Given the description of an element on the screen output the (x, y) to click on. 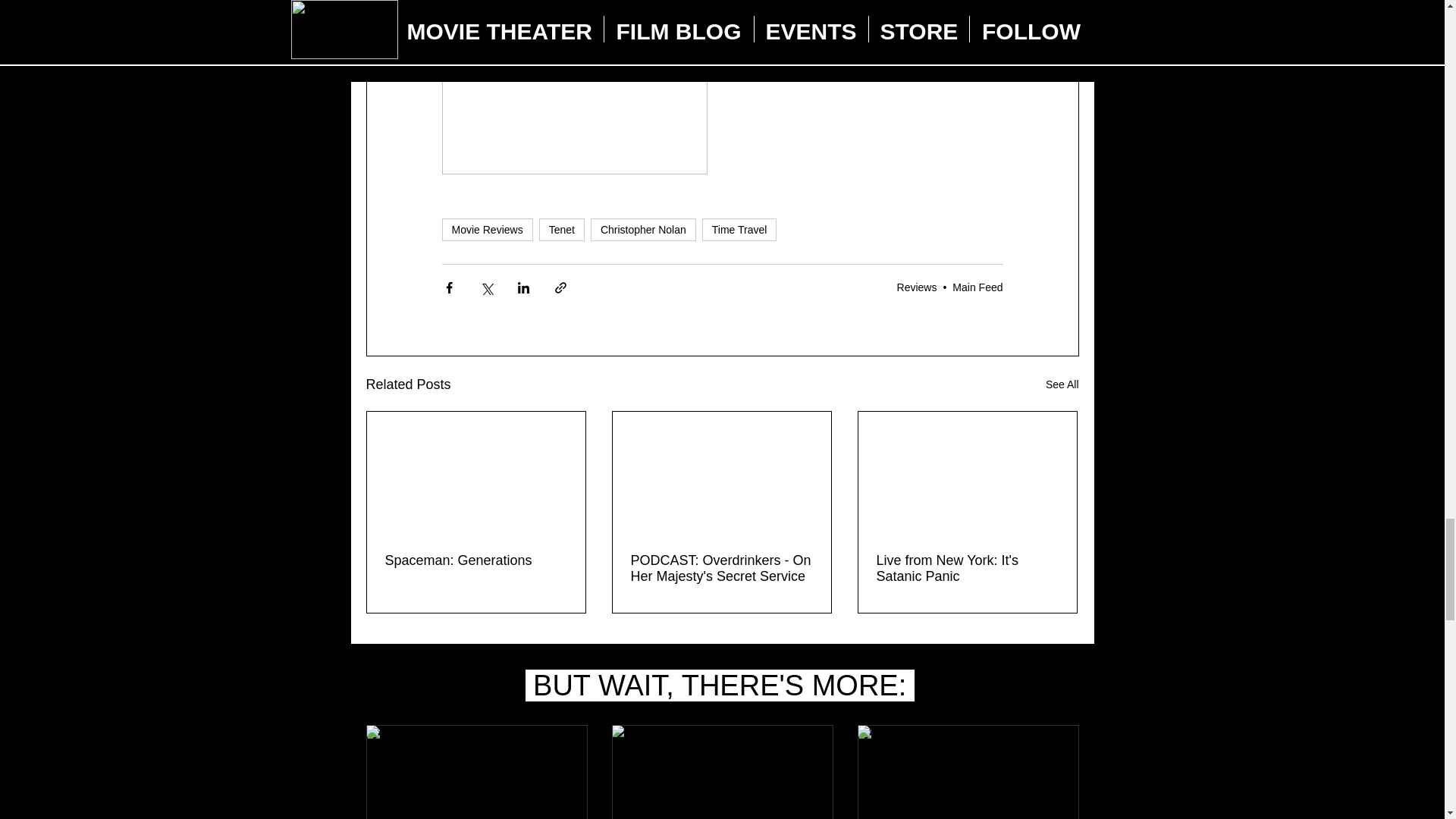
Spaceman: Generations (476, 560)
Reviews (916, 287)
Time Travel (739, 229)
PODCAST: Overdrinkers - On Her Majesty's Secret Service (721, 568)
See All (1061, 384)
Christopher Nolan (643, 229)
Tenet (561, 229)
Movie Reviews (486, 229)
Live from New York: It's Satanic Panic (967, 568)
Main Feed (977, 287)
